Given the description of an element on the screen output the (x, y) to click on. 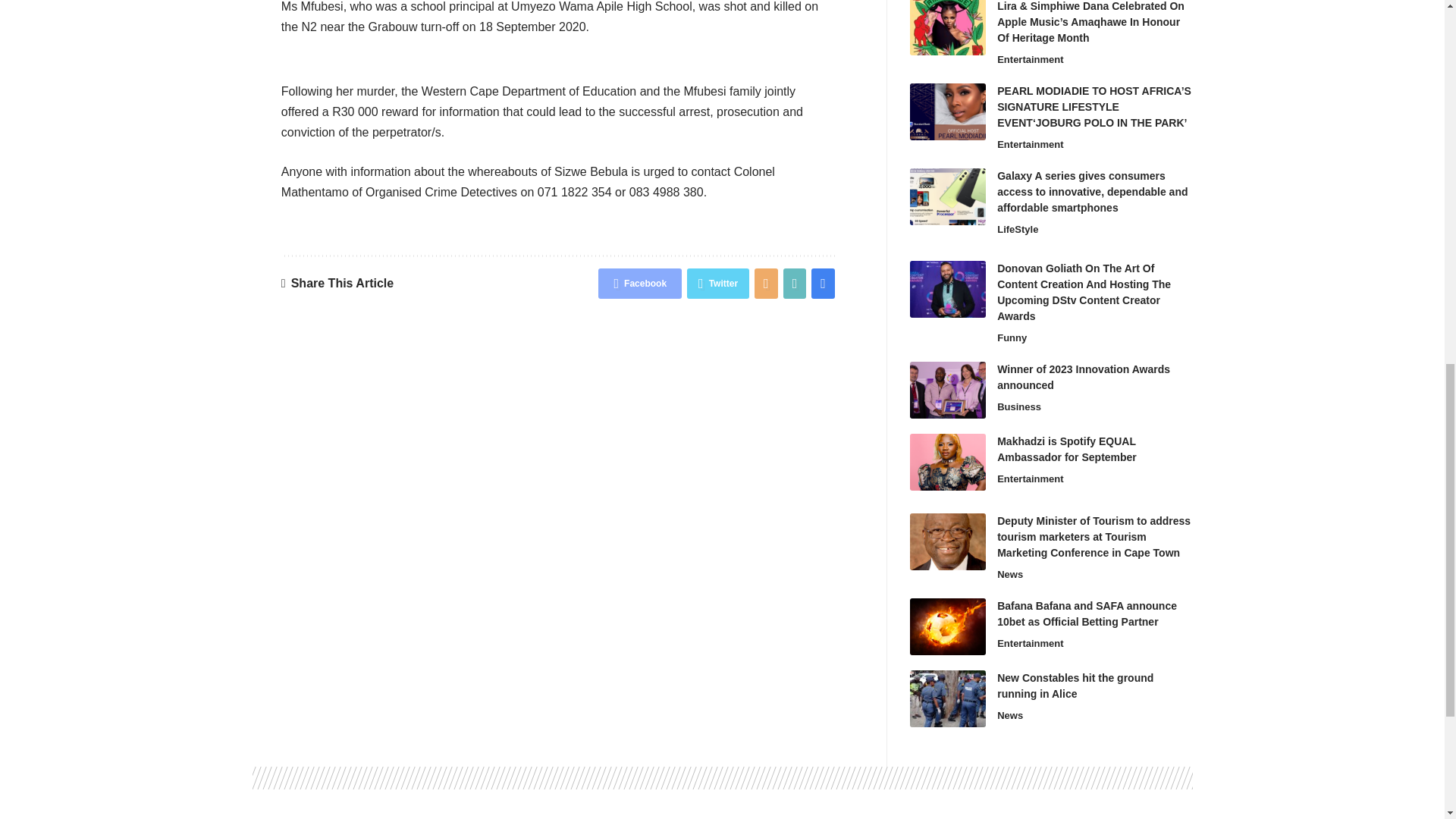
Winner of 2023 Innovation Awards announced (947, 389)
